Given the description of an element on the screen output the (x, y) to click on. 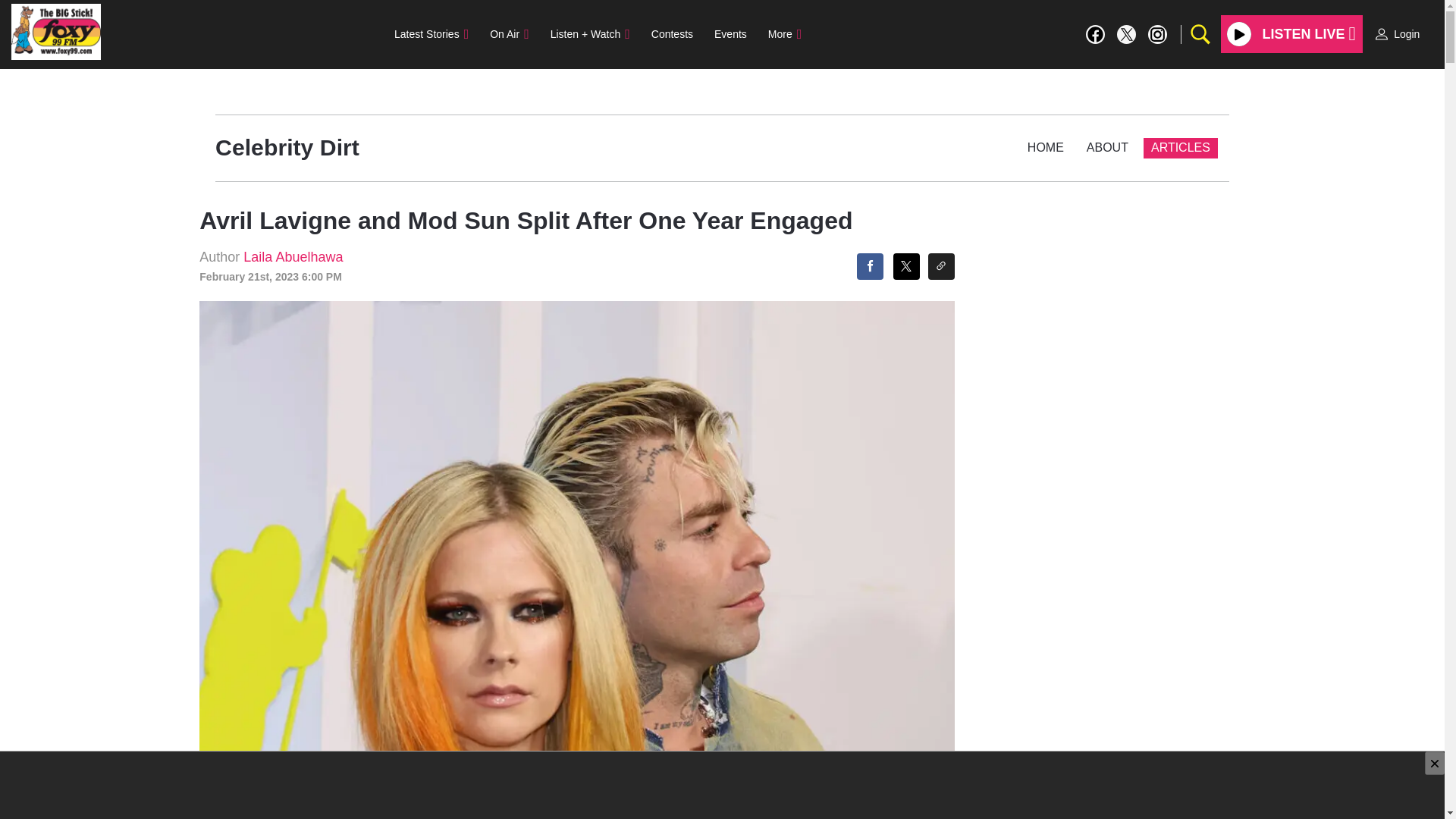
More (784, 33)
Laila Abuelhawa (292, 256)
Events (730, 33)
Contests (671, 33)
Latest Stories (431, 33)
On Air (508, 33)
Close AdCheckmark indicating ad close (1434, 763)
